Given the description of an element on the screen output the (x, y) to click on. 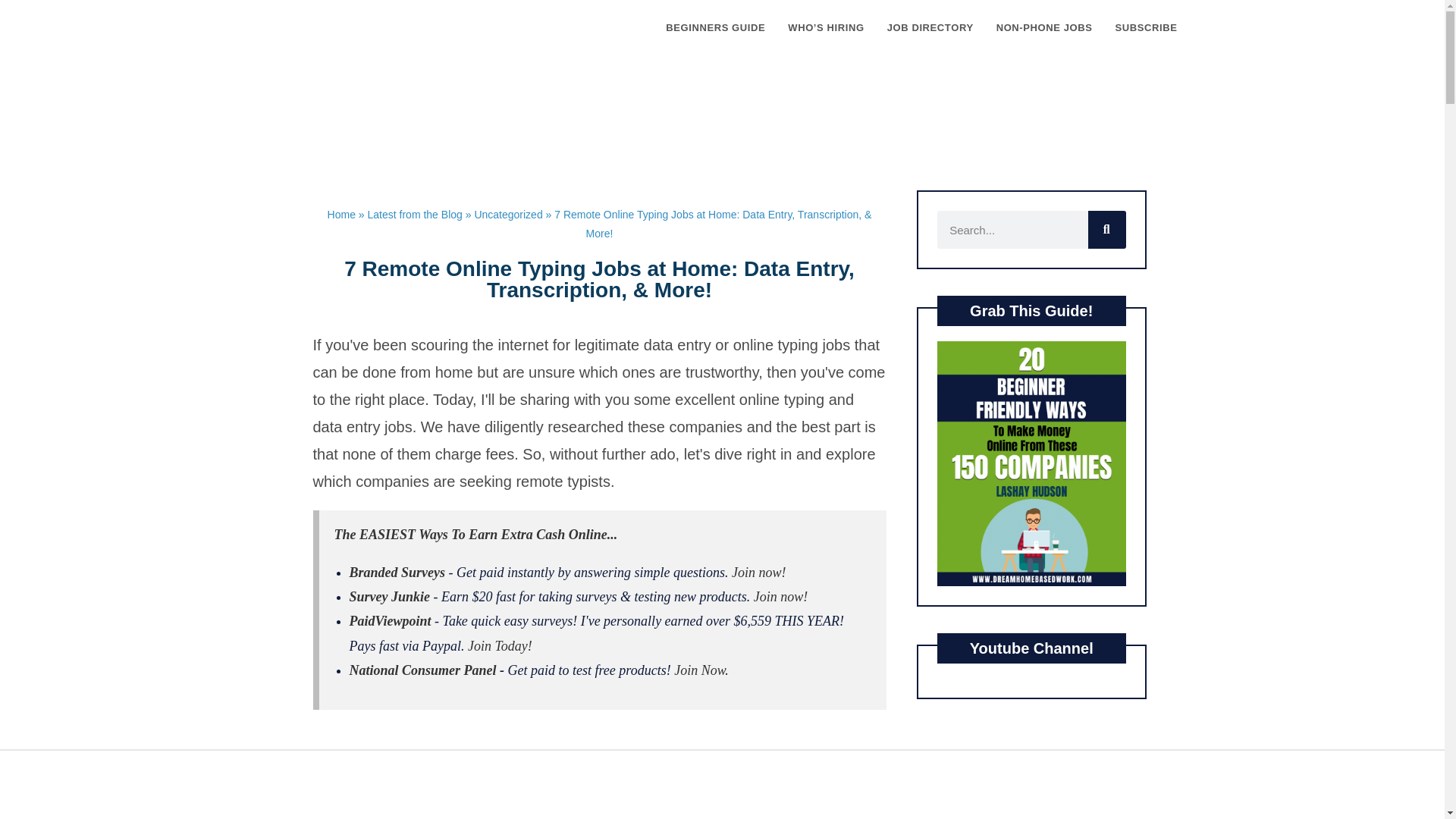
Branded Surveys (397, 572)
Uncategorized (507, 214)
Latest from the Blog (415, 214)
Survey Junkie (389, 596)
JOB DIRECTORY (930, 28)
SUBSCRIBE (1146, 28)
BEGINNERS GUIDE (714, 28)
Home (341, 214)
Join now! (781, 596)
National Consumer Panel (424, 670)
Join now! (759, 572)
Join Today! (499, 645)
Join Now (699, 670)
NON-PHONE JOBS (1044, 28)
PaidViewpoint (389, 620)
